Given the description of an element on the screen output the (x, y) to click on. 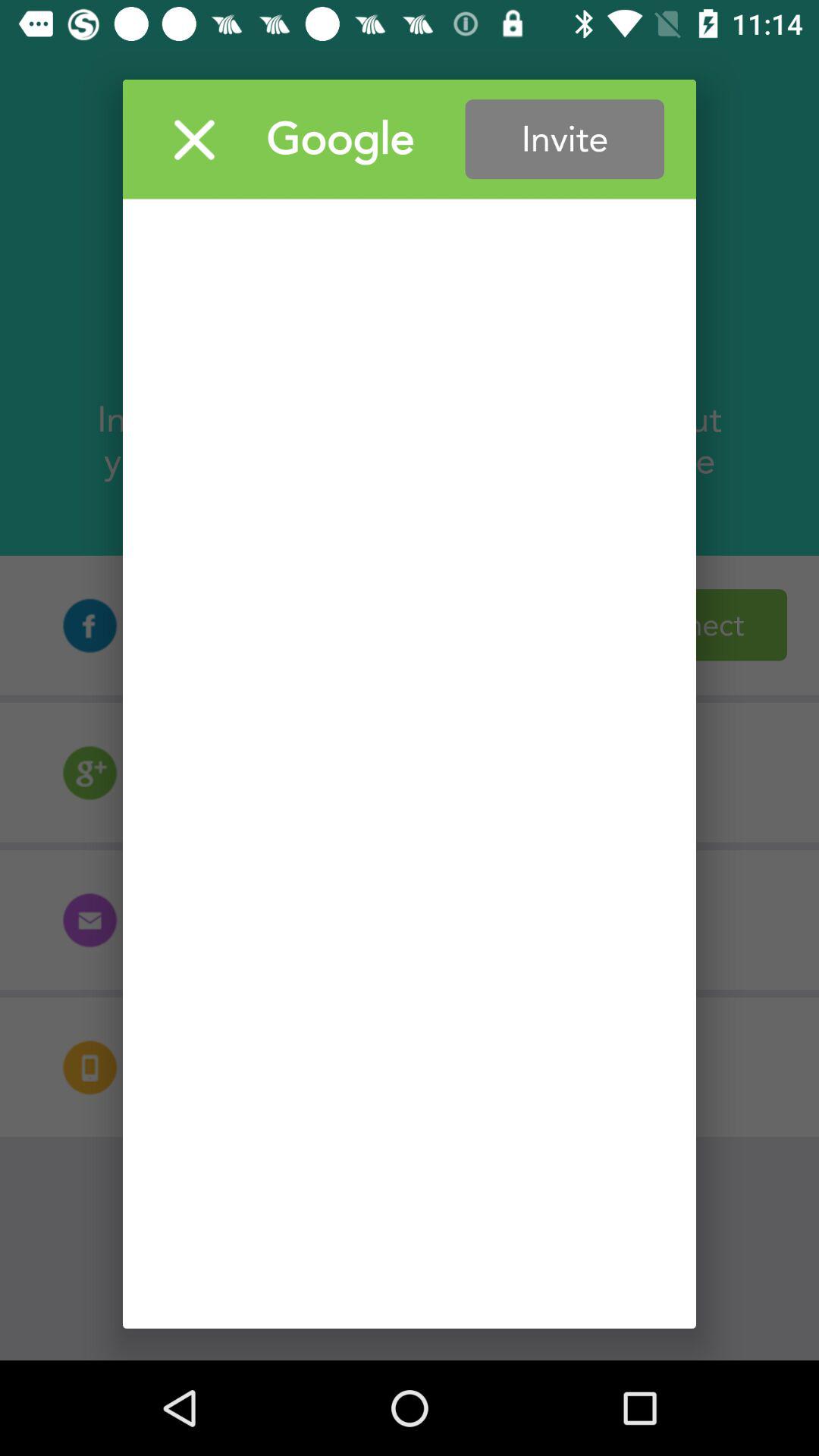
exit modal (194, 139)
